Given the description of an element on the screen output the (x, y) to click on. 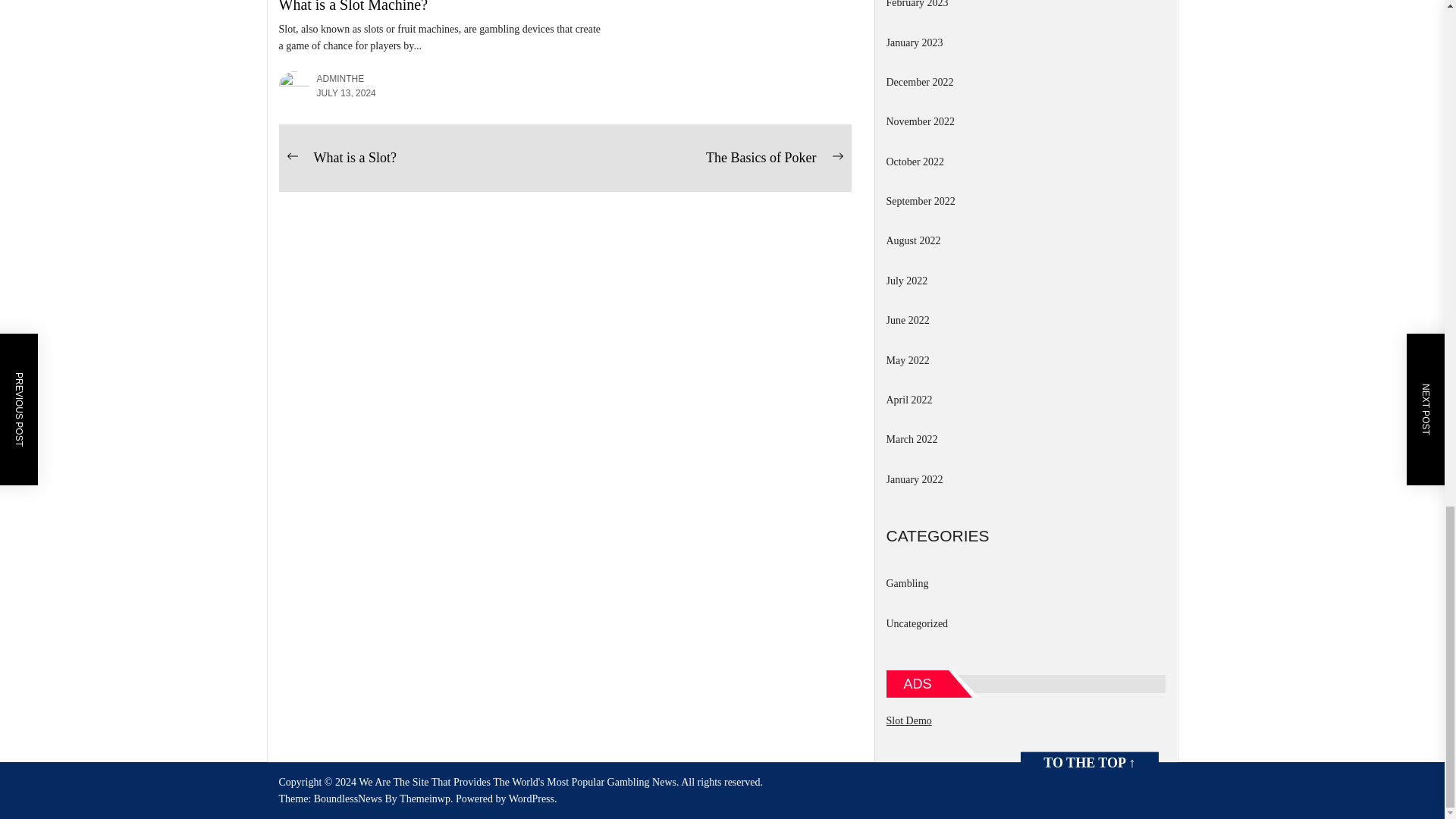
Themeinwp (426, 798)
WordPress (532, 798)
